Given the description of an element on the screen output the (x, y) to click on. 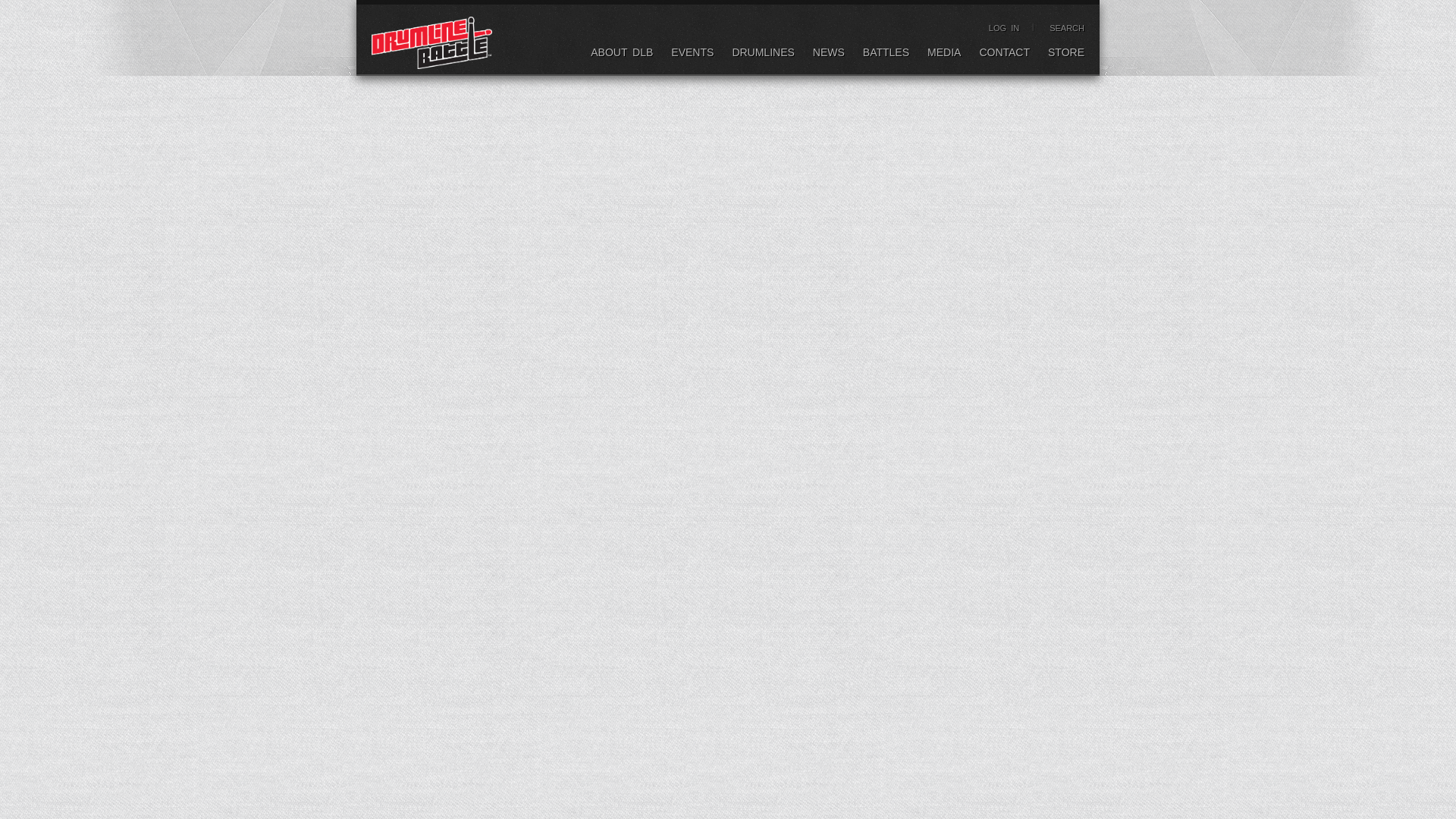
ABOUT DLB (621, 54)
BATTLES (885, 54)
NEWS (828, 54)
LOG IN (1003, 27)
EVENTS (692, 54)
STORE (1066, 54)
SEARCH (1066, 27)
DRUMLINES (762, 54)
MEDIA (943, 54)
CONTACT (1003, 54)
